Given the description of an element on the screen output the (x, y) to click on. 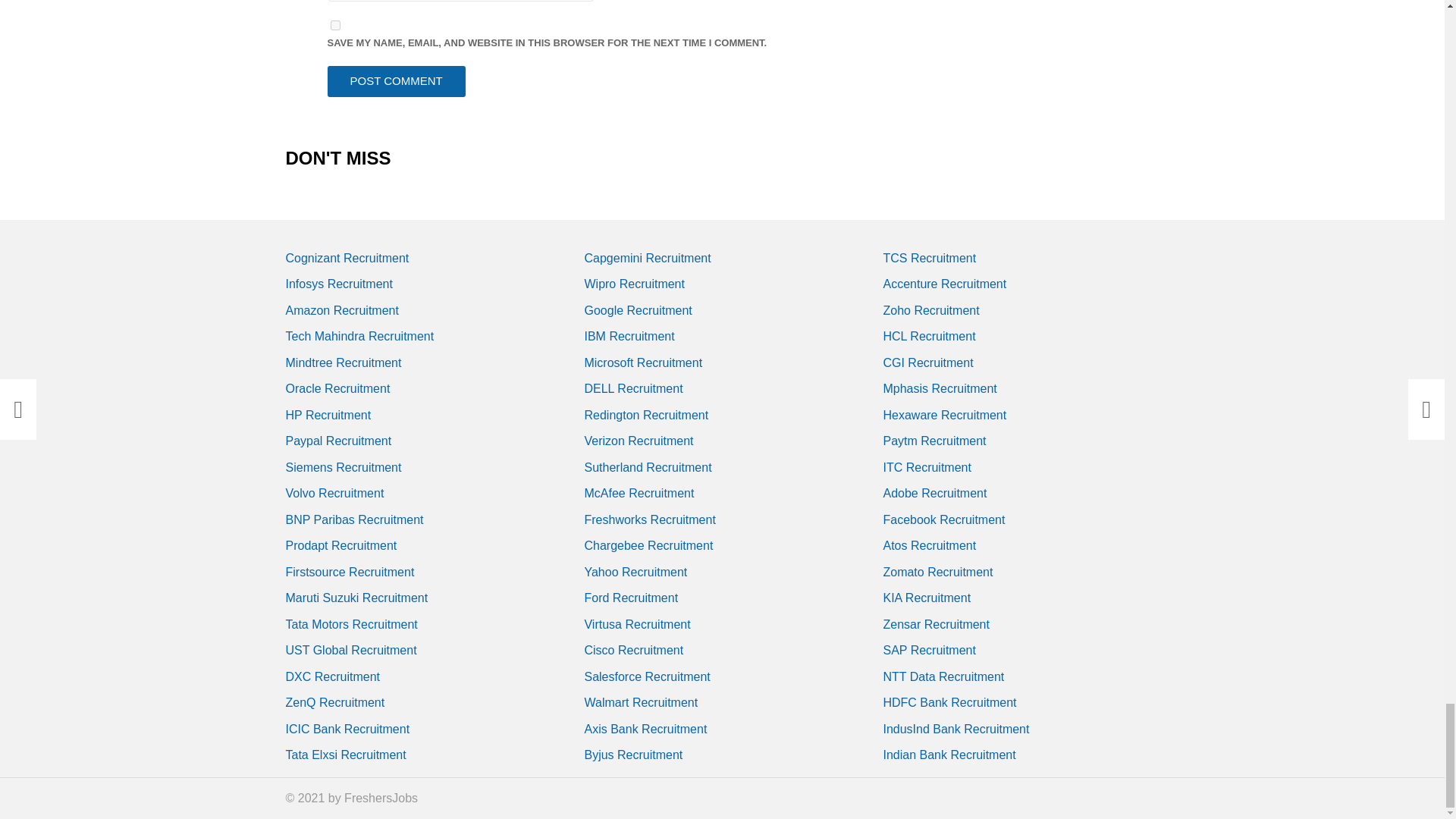
yes (335, 25)
Post Comment (396, 81)
